Given the description of an element on the screen output the (x, y) to click on. 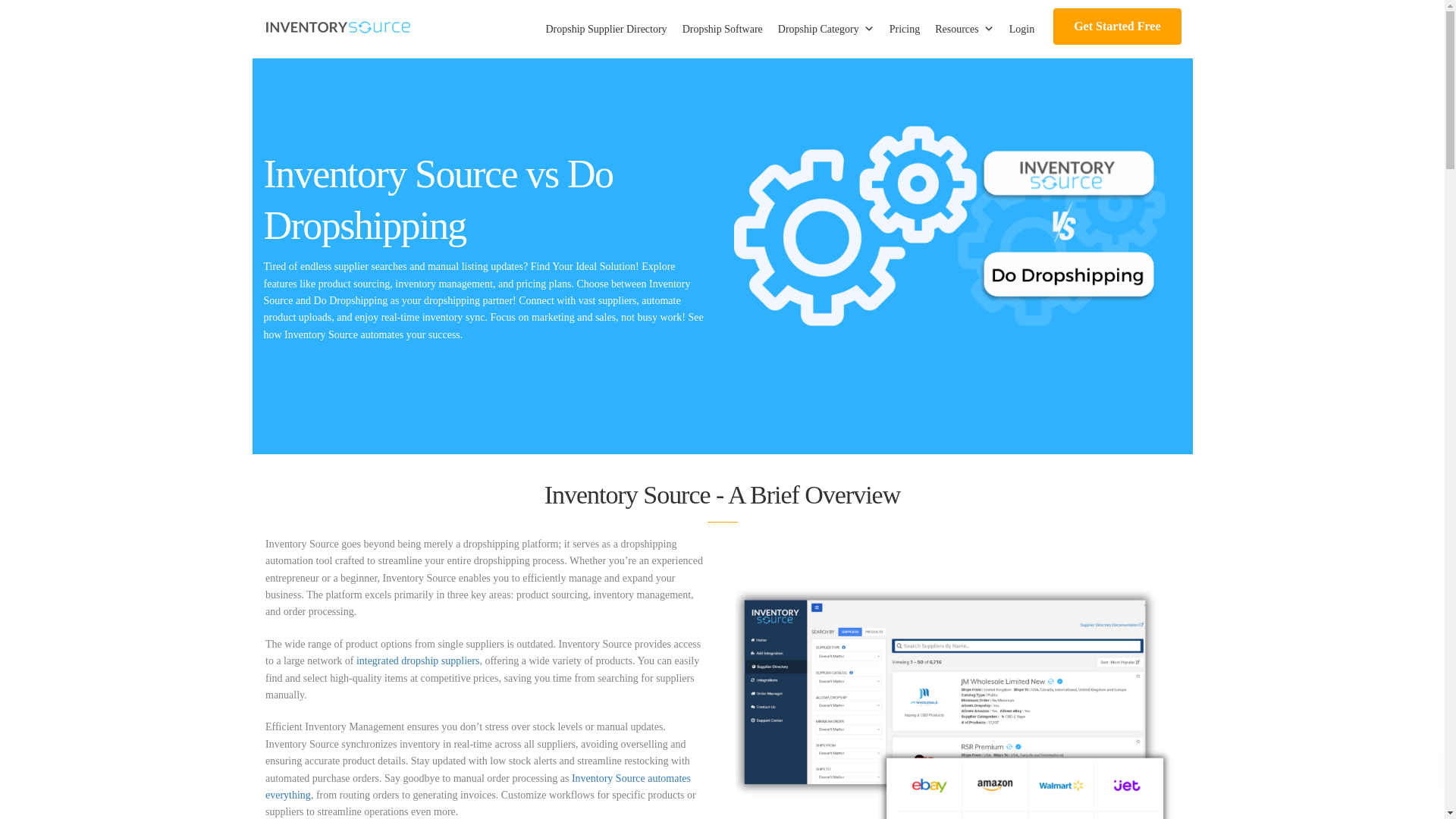
Dropship Category (826, 29)
Dropship Supplier Directory (605, 29)
Dropship Software (722, 29)
Resources (964, 29)
